Given the description of an element on the screen output the (x, y) to click on. 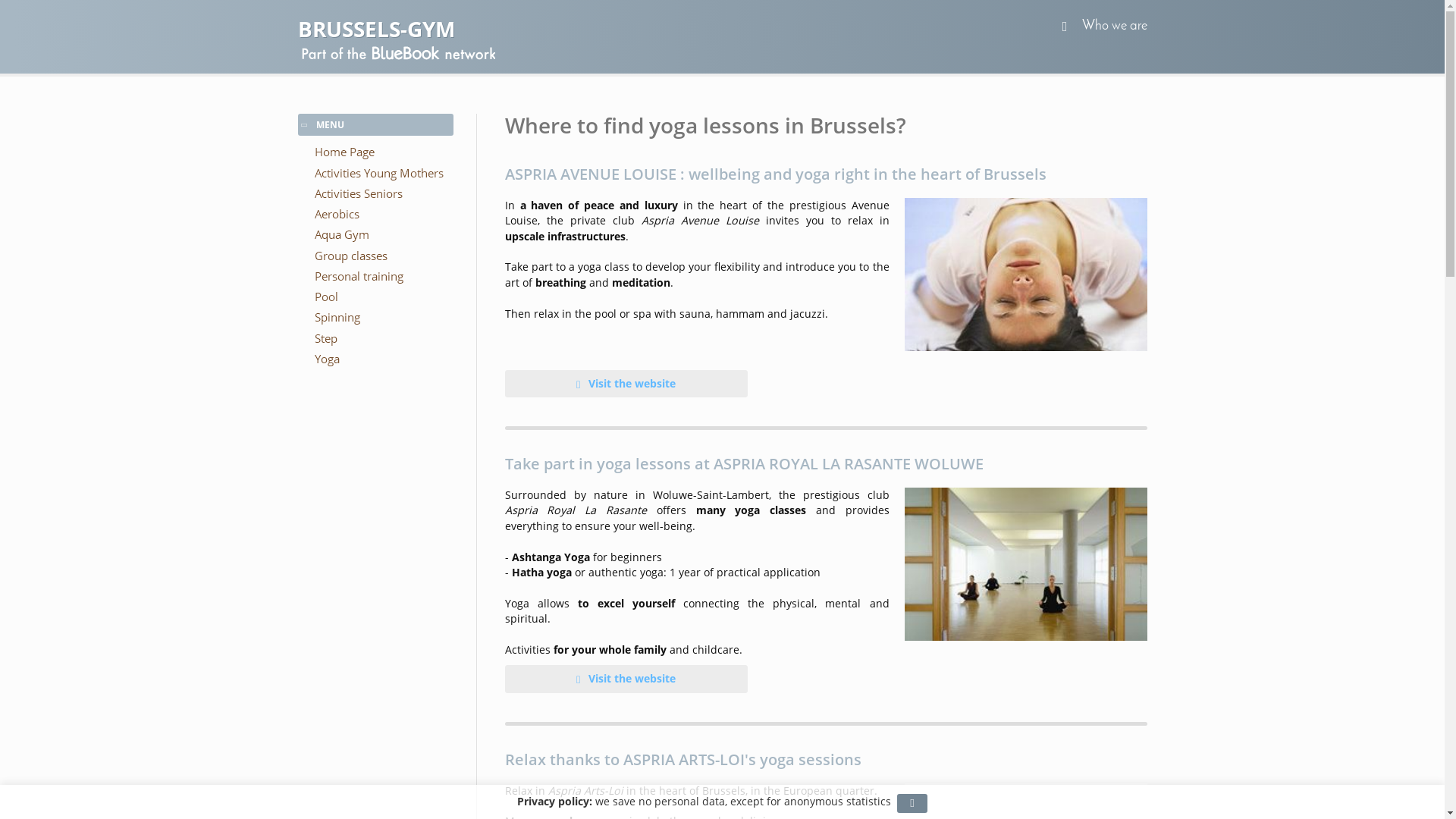
Visit the website Element type: text (626, 678)
Discover the club here ! Element type: hover (1024, 563)
BRUSSELS-GYM Element type: text (721, 28)
Who we are Element type: text (1113, 25)
Visit the website Element type: text (626, 383)
